Given the description of an element on the screen output the (x, y) to click on. 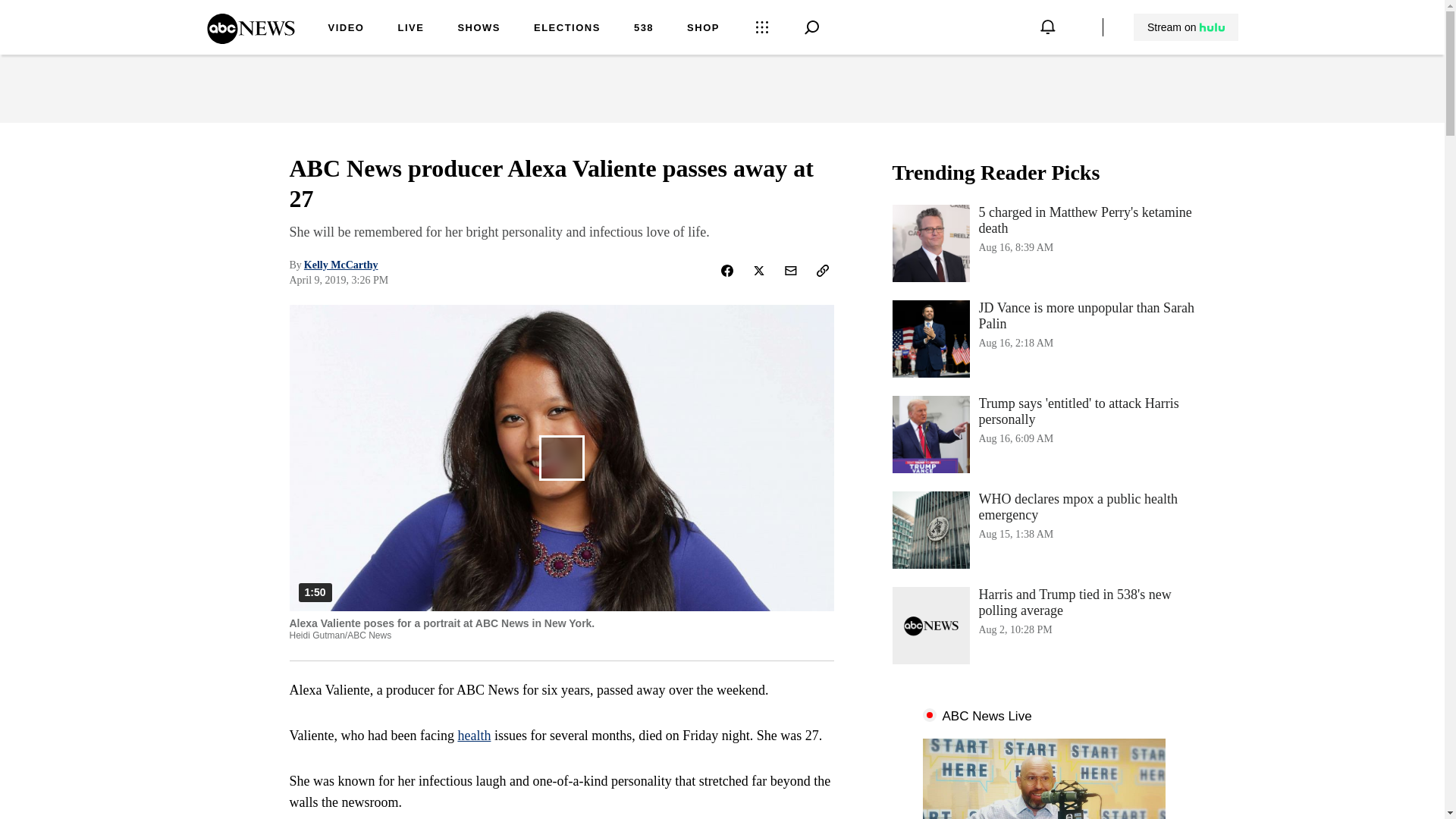
VIDEO (345, 28)
Stream on (1043, 338)
LIVE (1043, 529)
SHOWS (1186, 26)
ELECTIONS (410, 28)
Kelly McCarthy (478, 28)
